Given the description of an element on the screen output the (x, y) to click on. 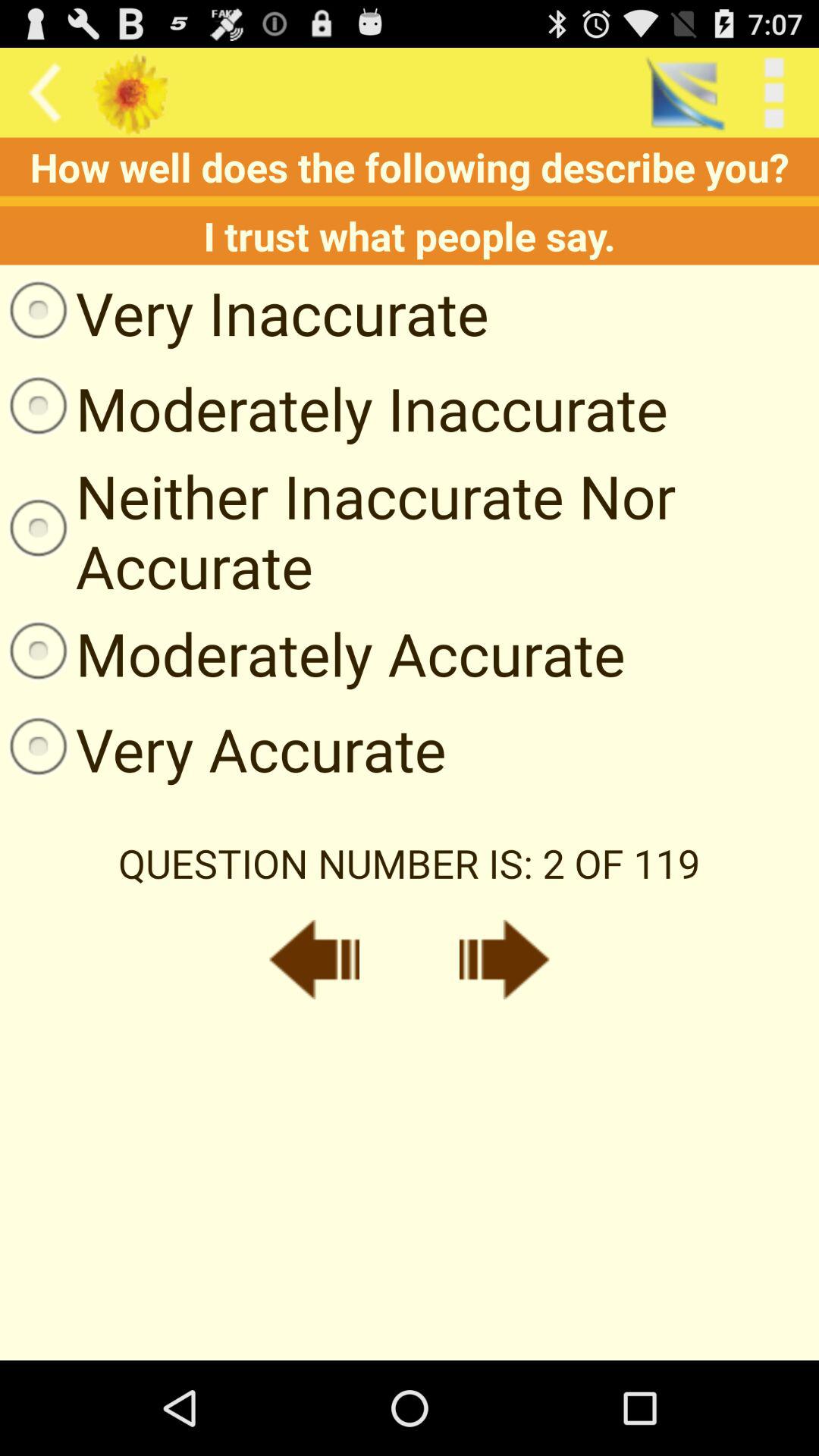
next button (504, 959)
